Given the description of an element on the screen output the (x, y) to click on. 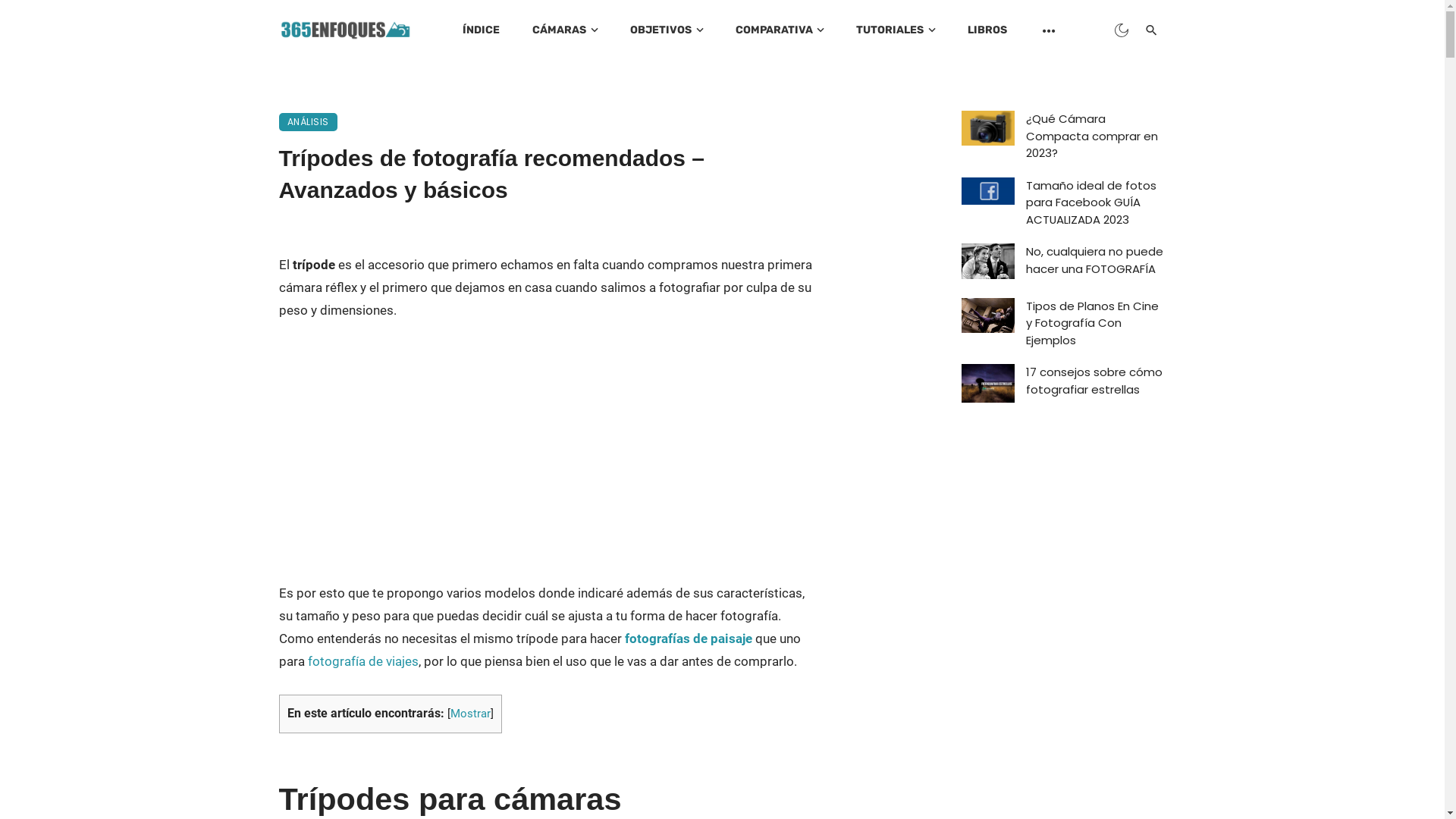
LIBROS Element type: text (987, 30)
Mostrar Element type: text (470, 713)
Advertisement Element type: hover (547, 449)
TUTORIALES Element type: text (895, 30)
COMPARATIVA Element type: text (779, 30)
OBJETIVOS Element type: text (666, 30)
